Given the description of an element on the screen output the (x, y) to click on. 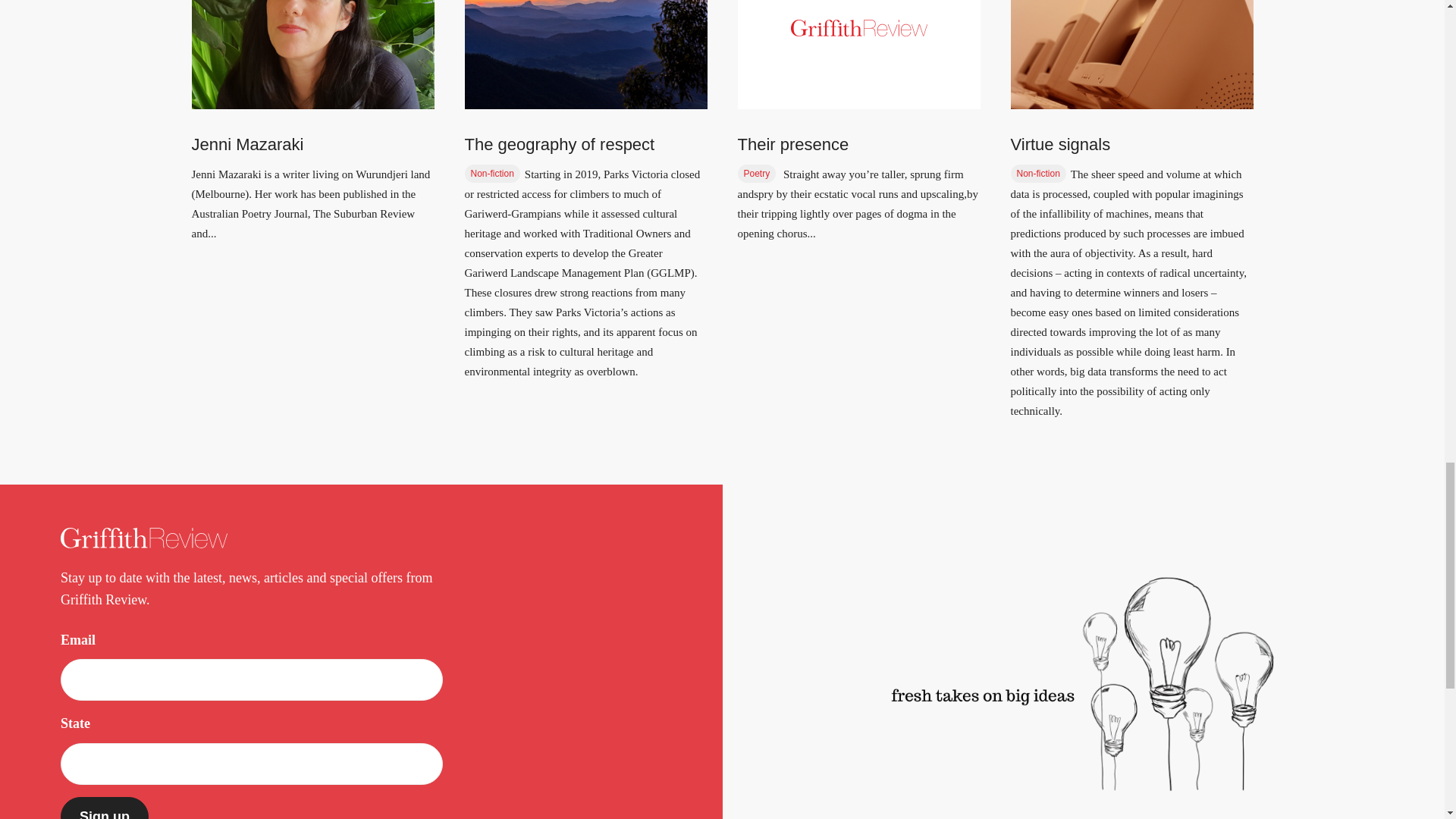
Sign up (104, 807)
